Given the description of an element on the screen output the (x, y) to click on. 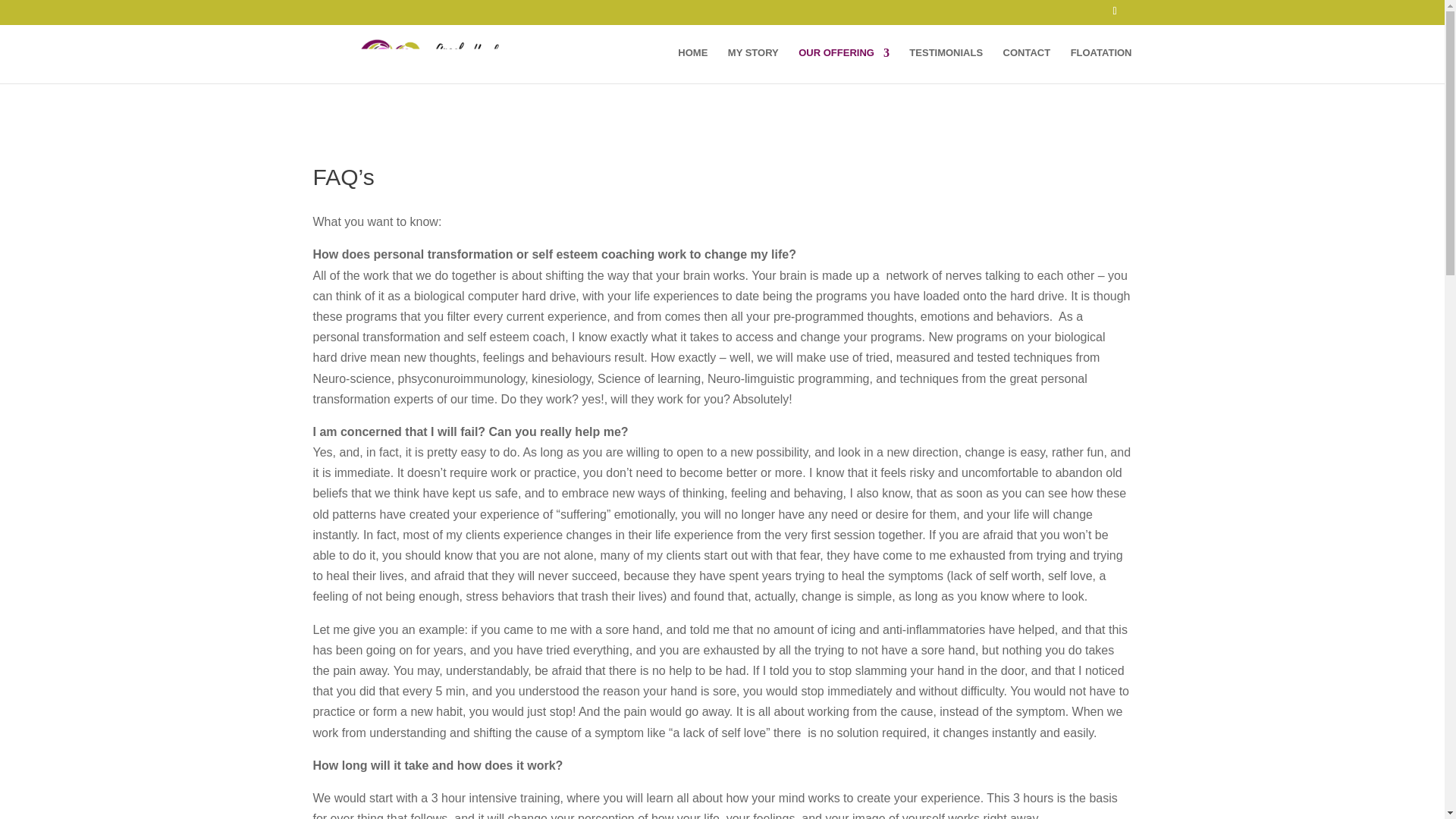
CONTACT (1027, 65)
OUR OFFERING (843, 65)
FLOATATION (1101, 65)
TESTIMONIALS (945, 65)
MY STORY (753, 65)
